Given the description of an element on the screen output the (x, y) to click on. 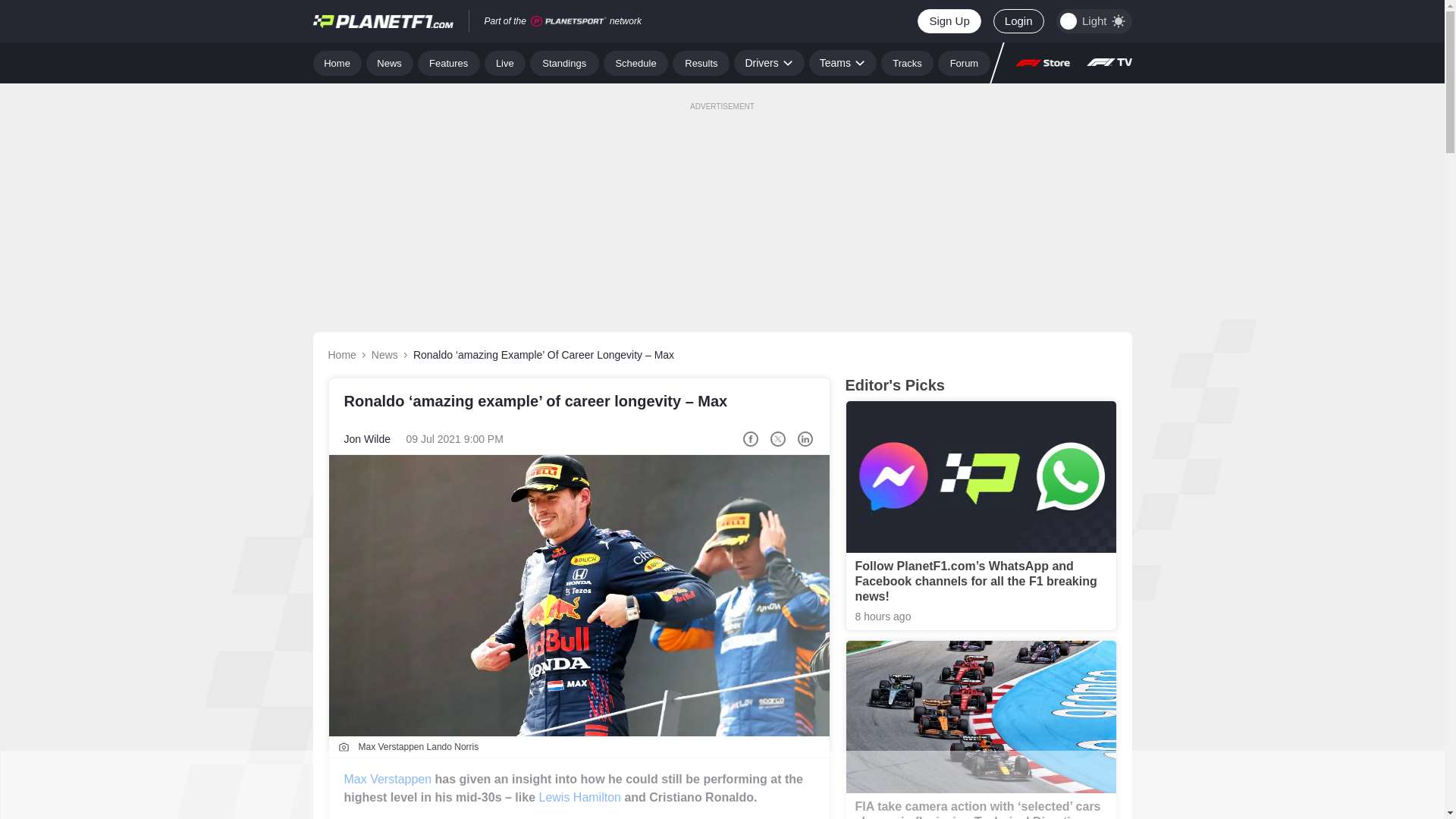
Home (337, 62)
News (389, 62)
Schedule (636, 62)
Results (700, 62)
Login (1017, 21)
Drivers (768, 62)
3rd party ad content (721, 785)
Features (448, 62)
Sign Up (948, 21)
Live (504, 62)
Teams (842, 62)
Standings (563, 62)
